Given the description of an element on the screen output the (x, y) to click on. 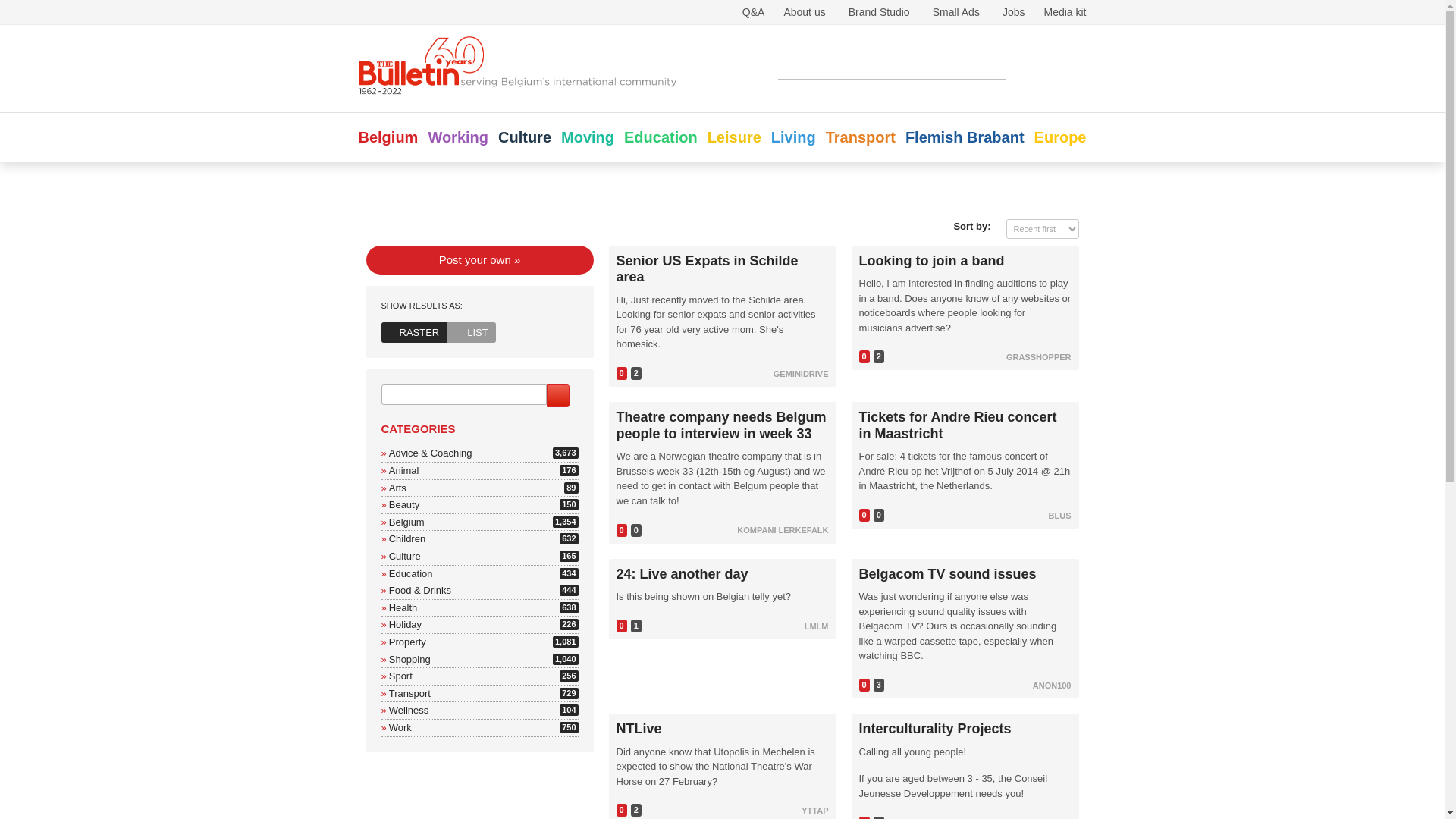
Transport (410, 573)
Search (404, 555)
Enter the terms you wish to search for. (860, 136)
Skip to main content (405, 624)
submit (406, 538)
